Given the description of an element on the screen output the (x, y) to click on. 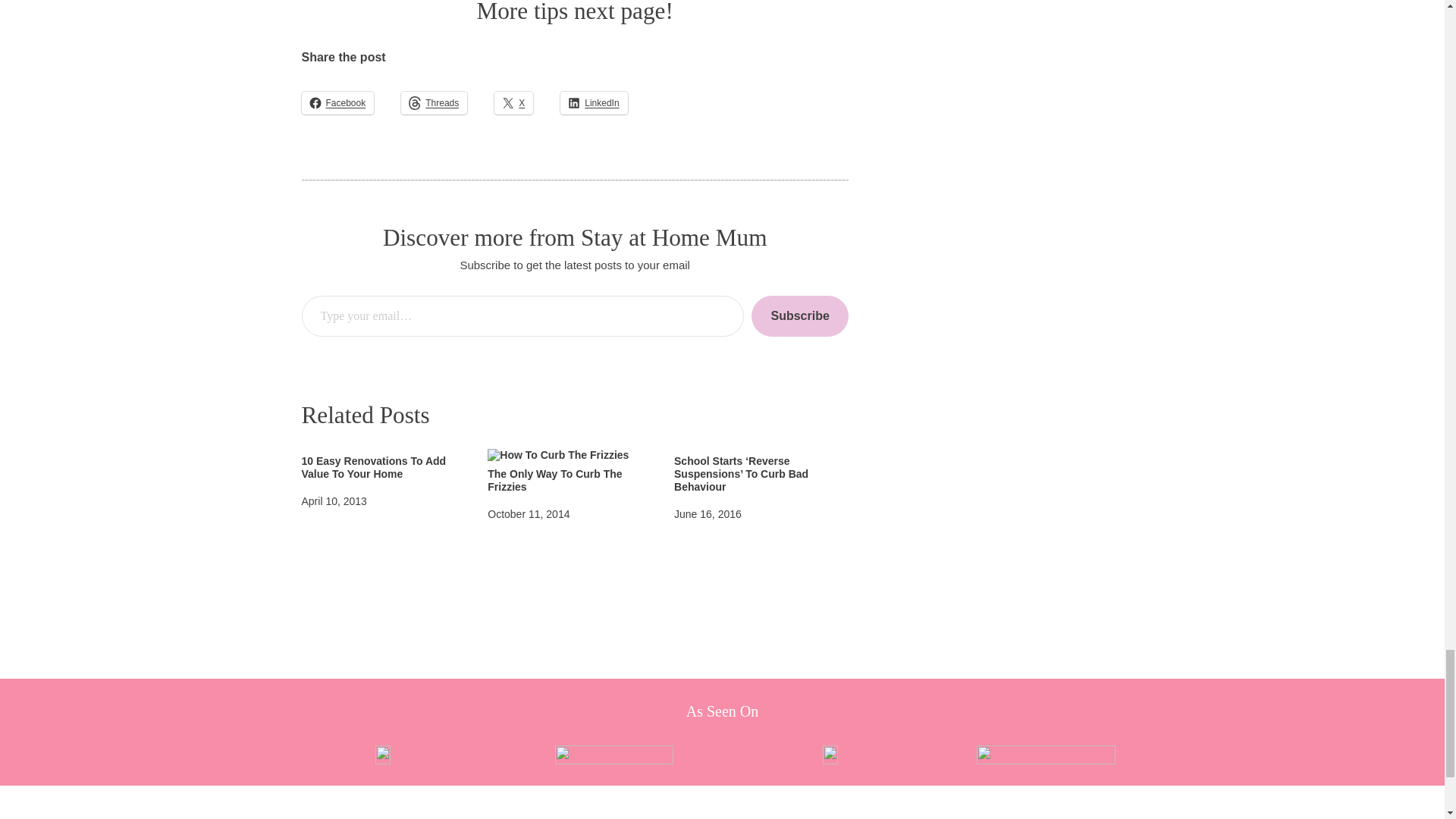
Please fill in this field. (522, 316)
